Given the description of an element on the screen output the (x, y) to click on. 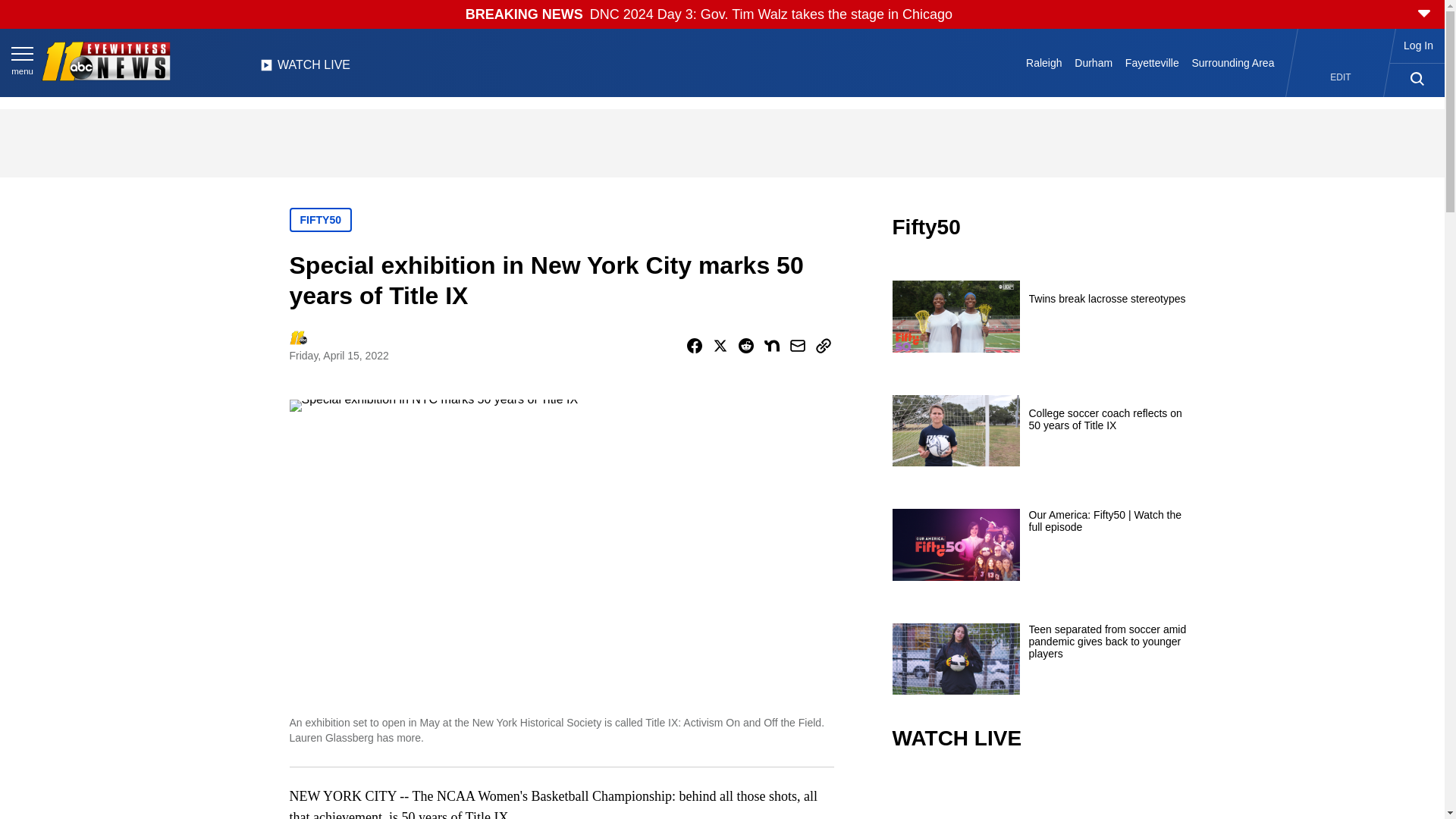
EDIT (1340, 77)
video.title (1043, 796)
WATCH LIVE (305, 69)
Raleigh (1044, 62)
Durham (1093, 62)
Surrounding Area (1233, 62)
Fayetteville (1151, 62)
